Given the description of an element on the screen output the (x, y) to click on. 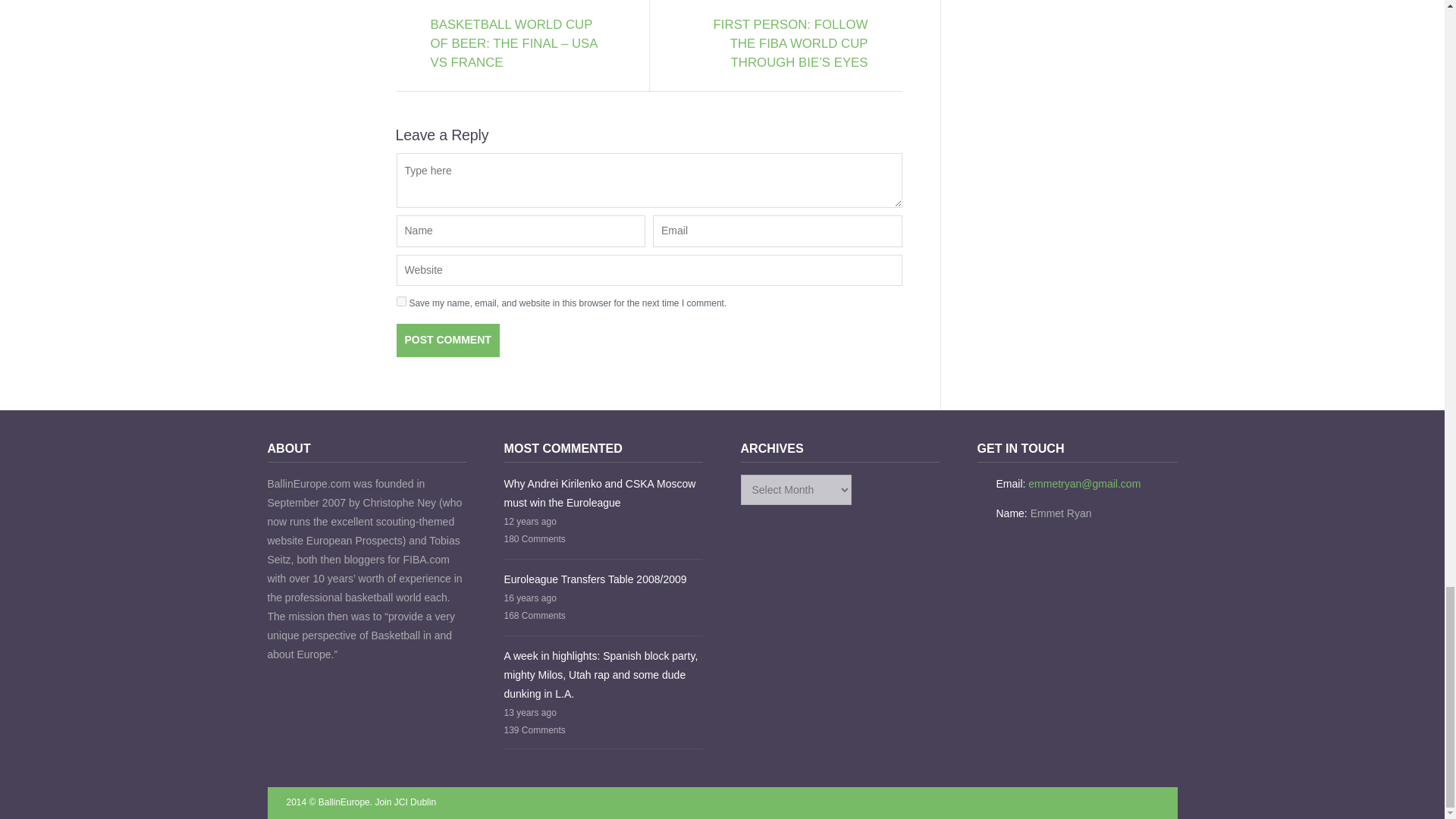
Previous (517, 43)
Post Comment (447, 340)
Next (780, 43)
yes (401, 301)
Post Comment (447, 340)
